Given the description of an element on the screen output the (x, y) to click on. 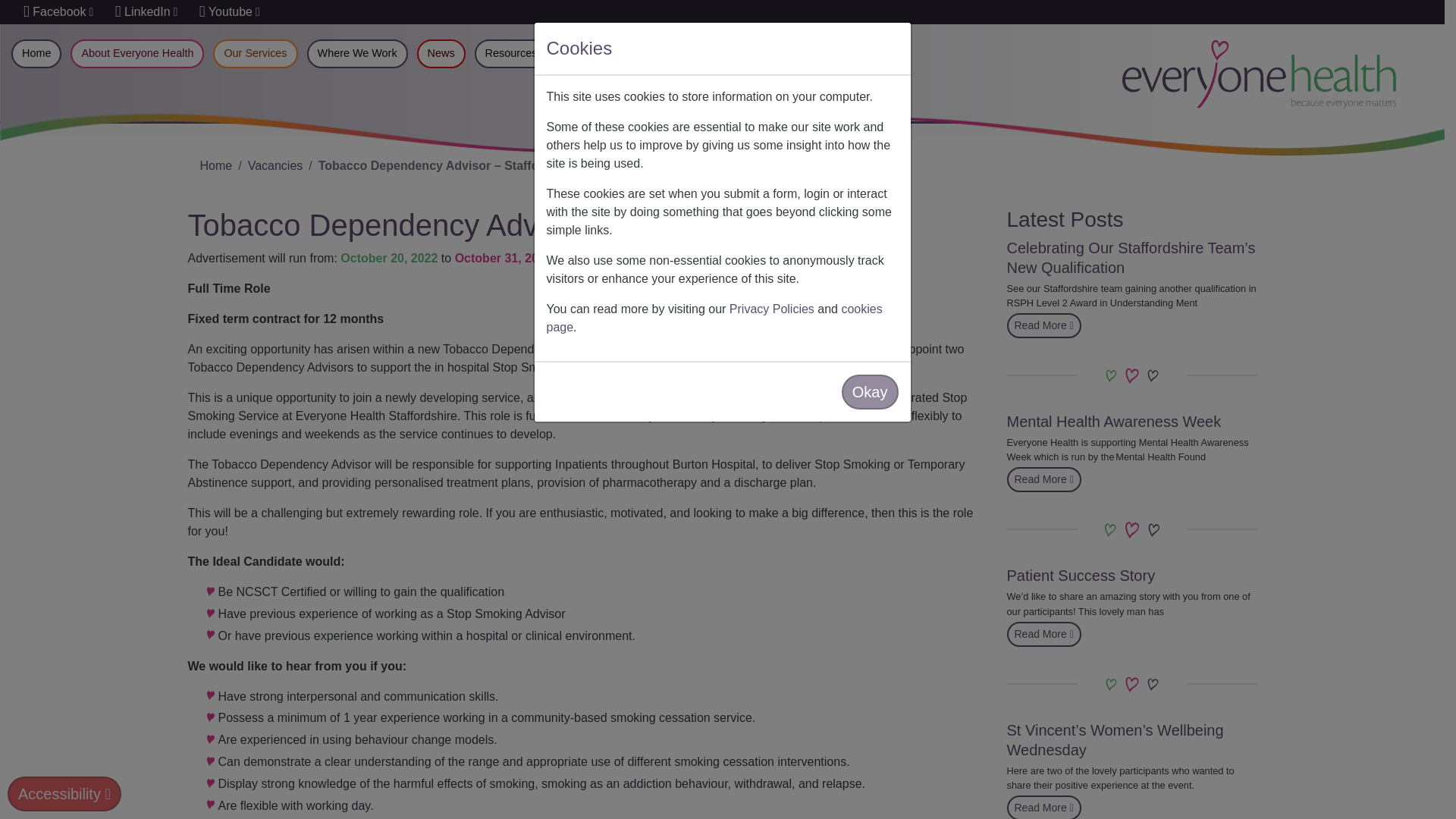
Mental Health Awareness Week (1114, 421)
Contact Us (690, 53)
Read More about Patient Success Story (1081, 575)
Where We Work (357, 53)
read more about Patient Success Story (1044, 634)
Vacancies (274, 164)
Facebook (1044, 634)
Vacancies (58, 11)
Home (274, 164)
News (216, 164)
LinkedIn (441, 53)
read more about Mental Health Awareness Week (146, 11)
Our Services (1044, 479)
